Given the description of an element on the screen output the (x, y) to click on. 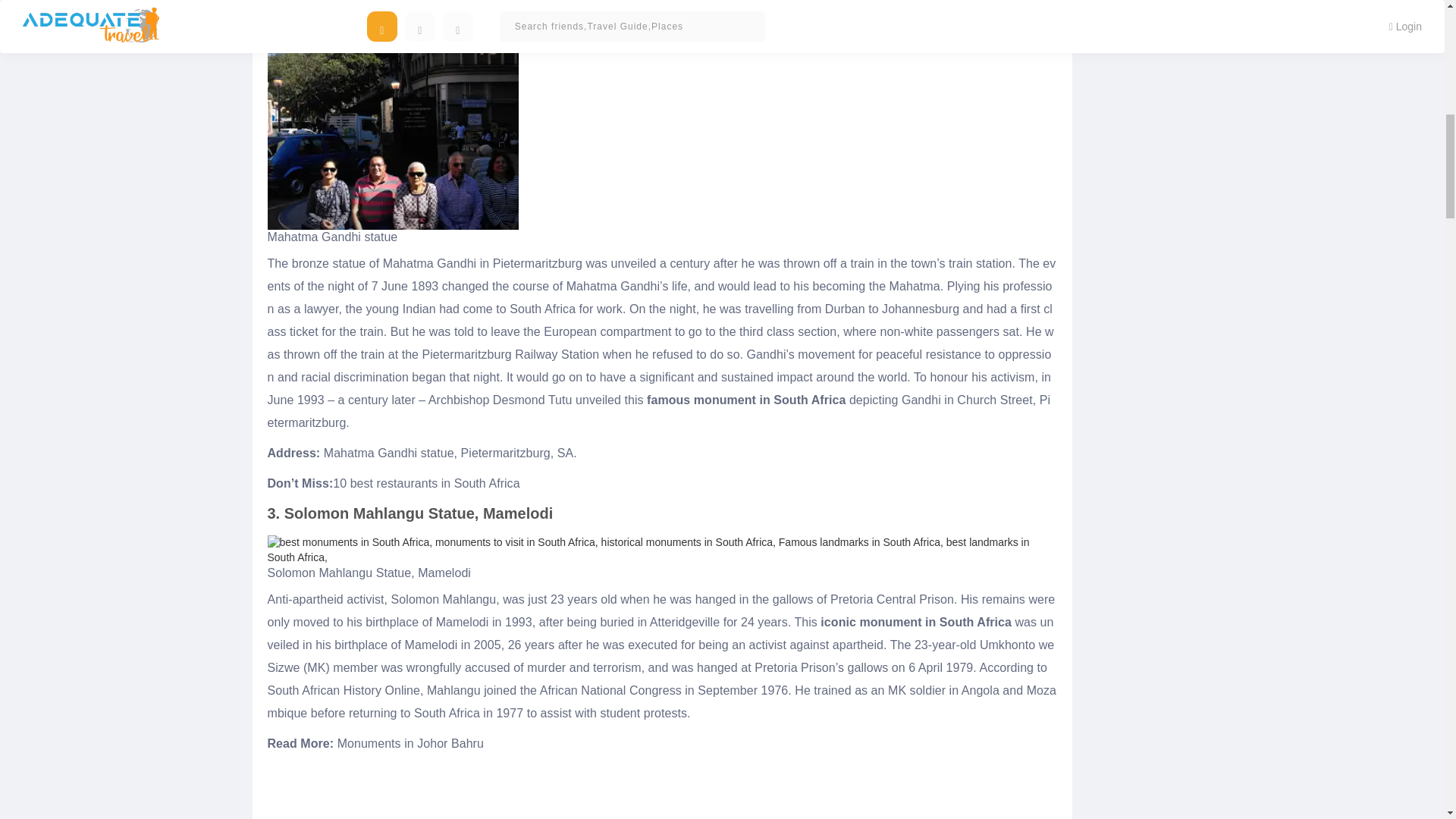
Monuments in Johor Bahru (410, 743)
10 best restaurants in South Africa (426, 482)
